Given the description of an element on the screen output the (x, y) to click on. 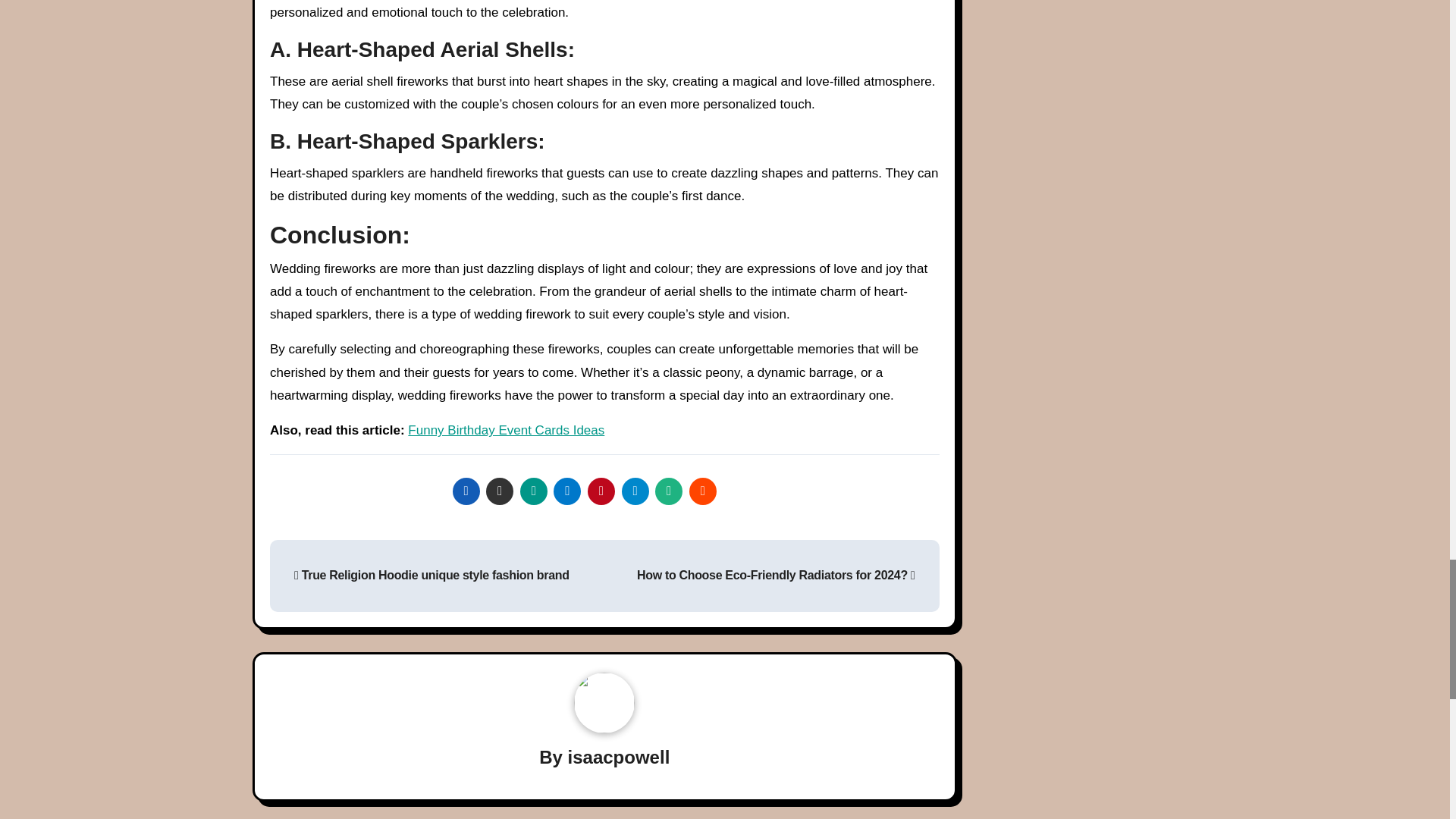
True Religion Hoodie unique style fashion brand (431, 574)
Funny Birthday Event Cards Ideas (505, 430)
How to Choose Eco-Friendly Radiators for 2024? (776, 574)
